Given the description of an element on the screen output the (x, y) to click on. 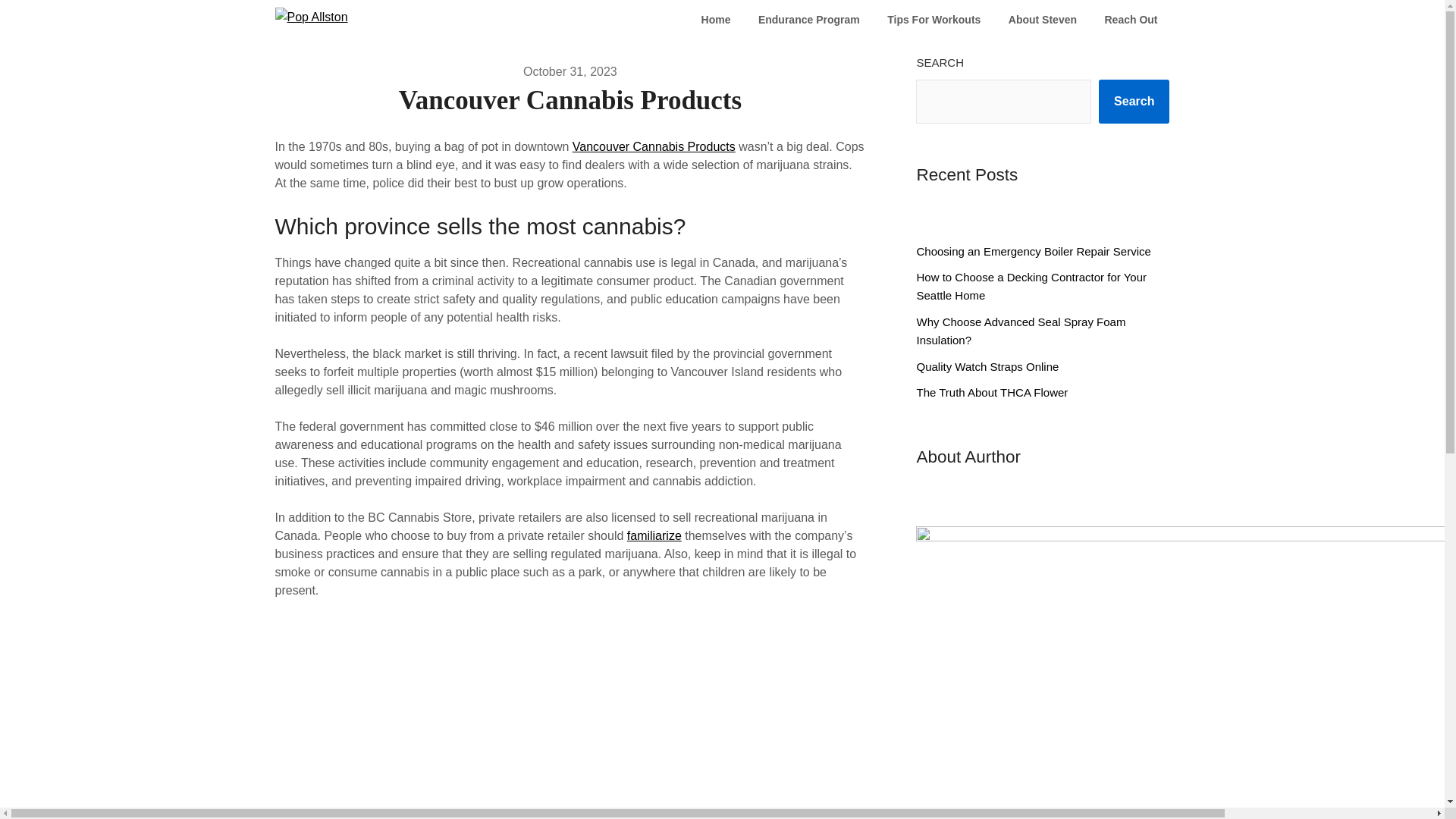
Why Choose Advanced Seal Spray Foam Insulation? (1020, 330)
Choosing an Emergency Boiler Repair Service (1032, 250)
Search (1134, 101)
Endurance Program (808, 20)
Vancouver Cannabis Products (653, 146)
The Truth About THCA Flower (991, 391)
familiarize (654, 535)
Home (715, 20)
Tips For Workouts (933, 20)
About Steven (1042, 20)
October 31, 2023 (569, 71)
Quality Watch Straps Online (986, 366)
Reach Out (1130, 20)
How to Choose a Decking Contractor for Your Seattle Home (1031, 286)
